Given the description of an element on the screen output the (x, y) to click on. 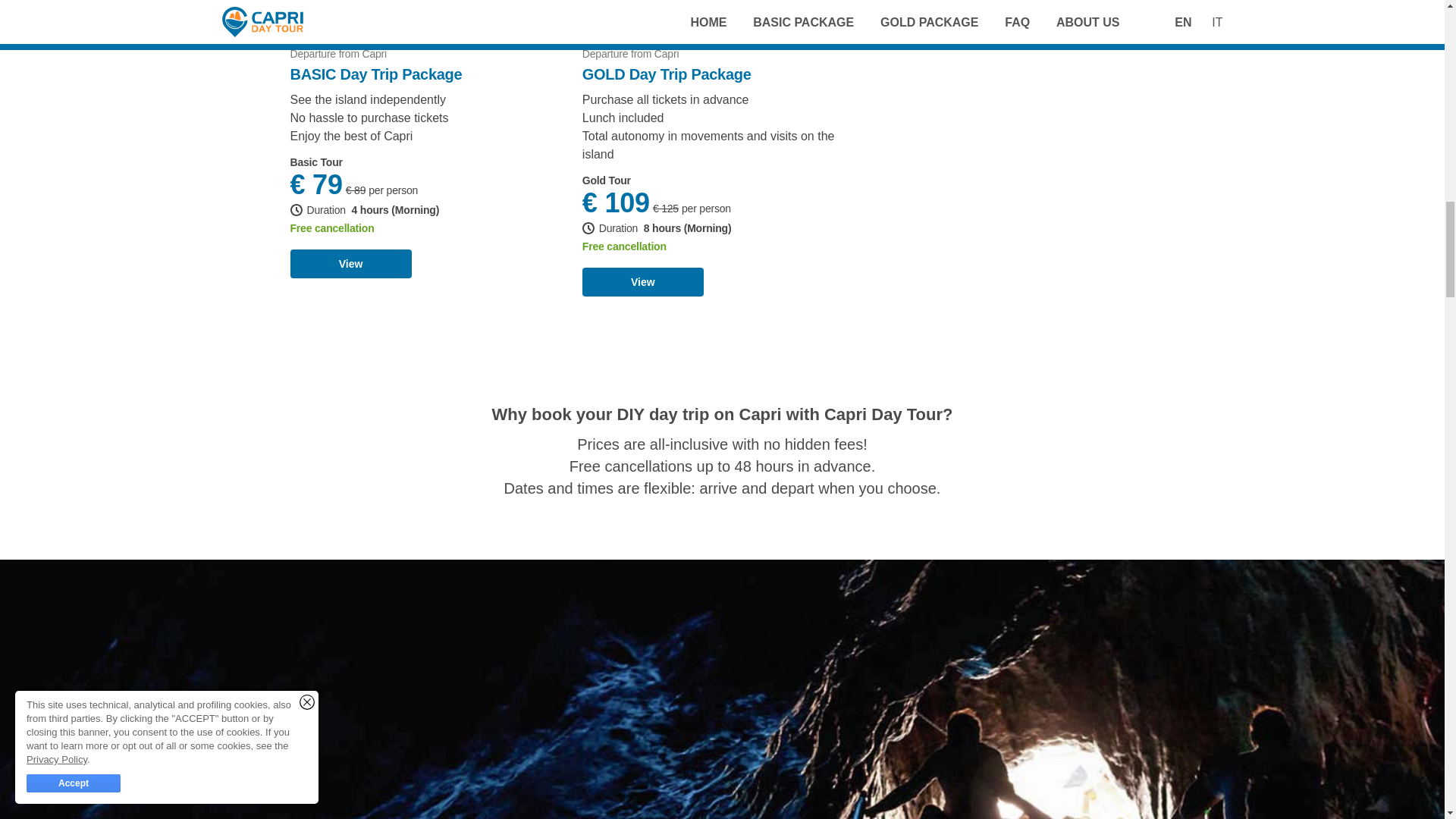
BASIC Day Trip Package (375, 74)
GOLD Day Trip Package (666, 74)
View (642, 281)
View (349, 263)
